Given the description of an element on the screen output the (x, y) to click on. 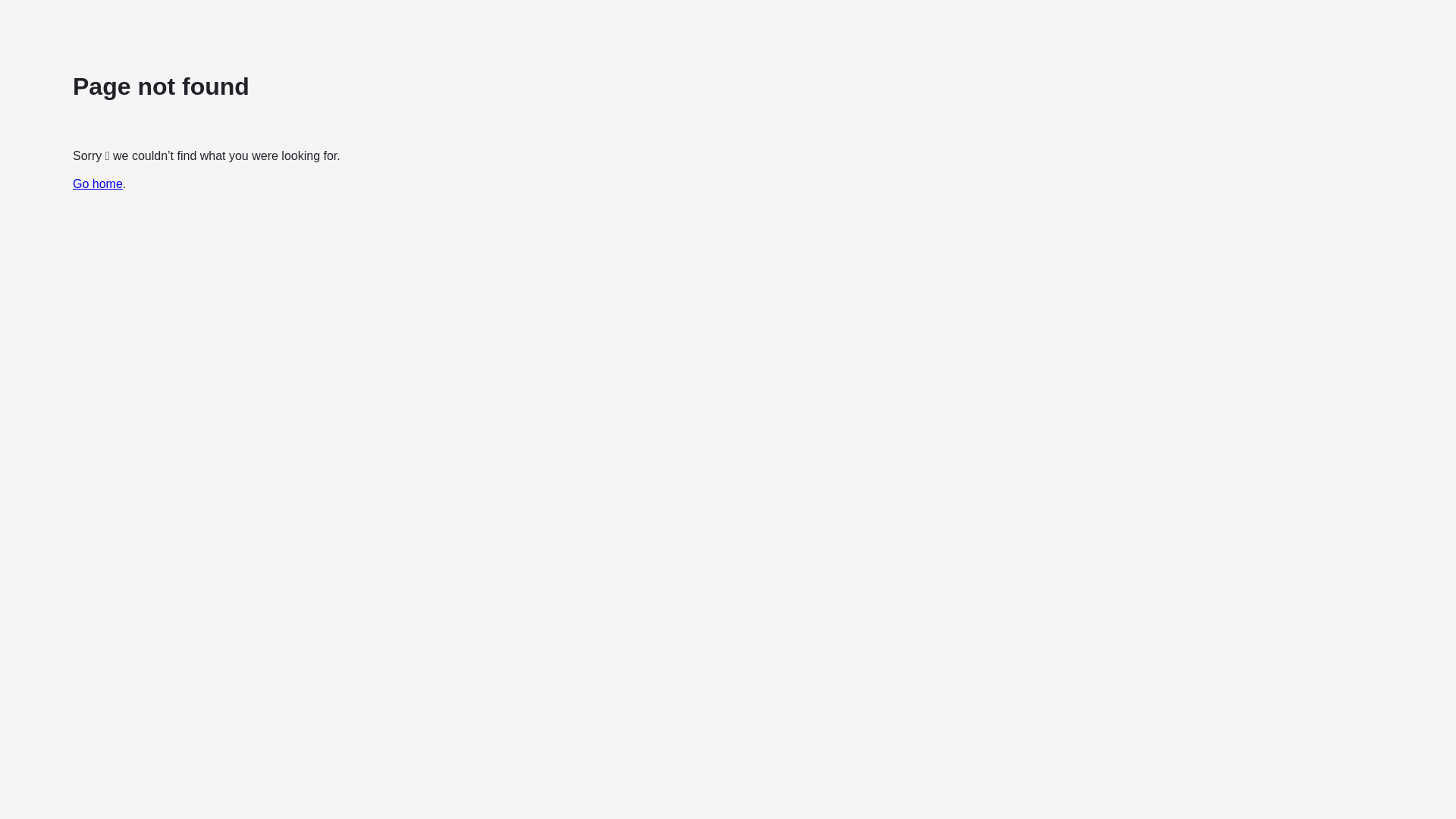
Go home Element type: text (97, 183)
